Given the description of an element on the screen output the (x, y) to click on. 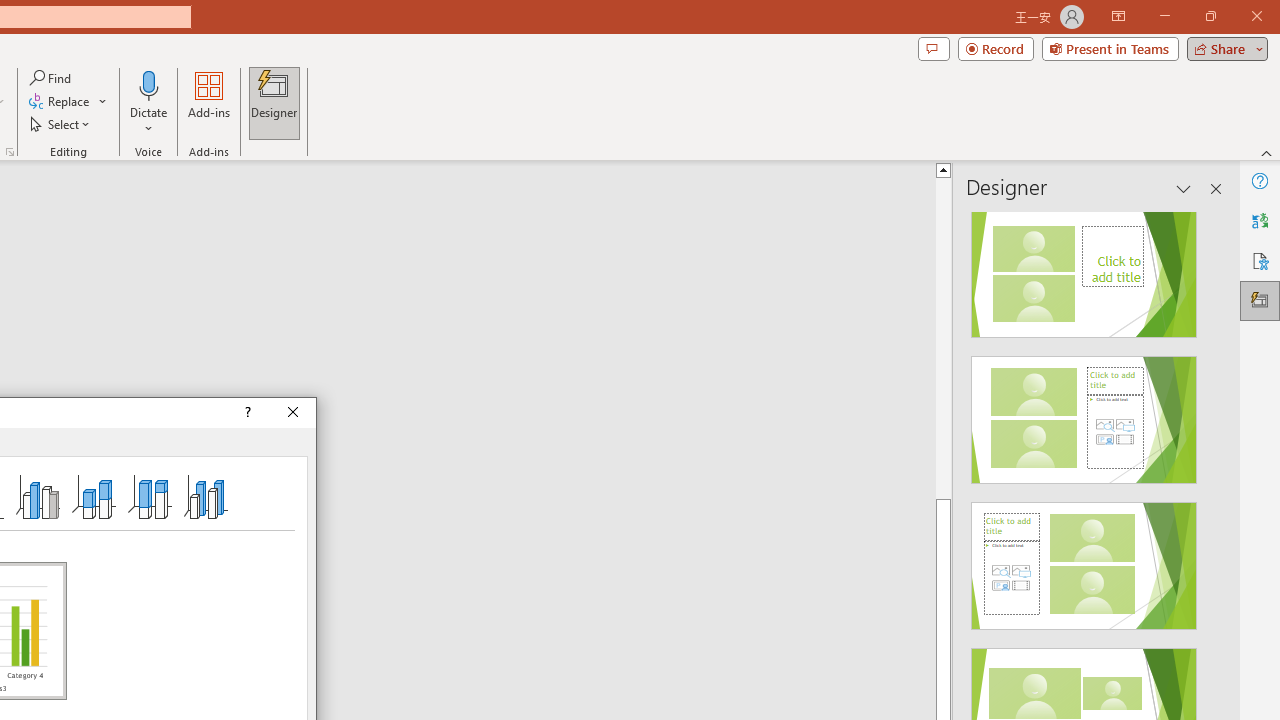
Context help (246, 412)
3-D 100% Stacked Column (149, 496)
